Given the description of an element on the screen output the (x, y) to click on. 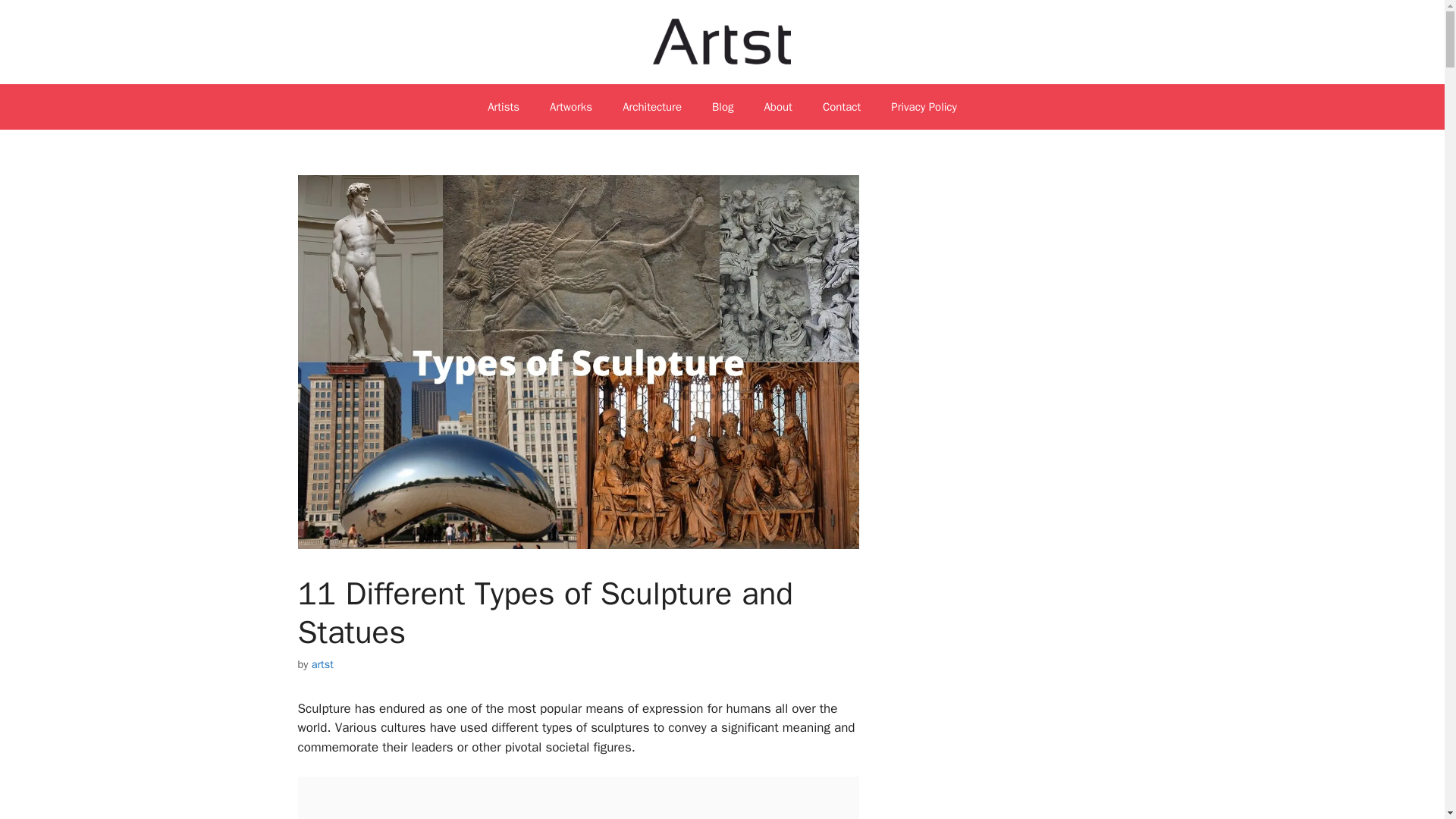
Blog (722, 106)
Contact (842, 106)
Artworks (570, 106)
artst (322, 663)
Privacy Policy (924, 106)
Architecture (652, 106)
About (777, 106)
View all posts by artst (322, 663)
Artists (502, 106)
